Given the description of an element on the screen output the (x, y) to click on. 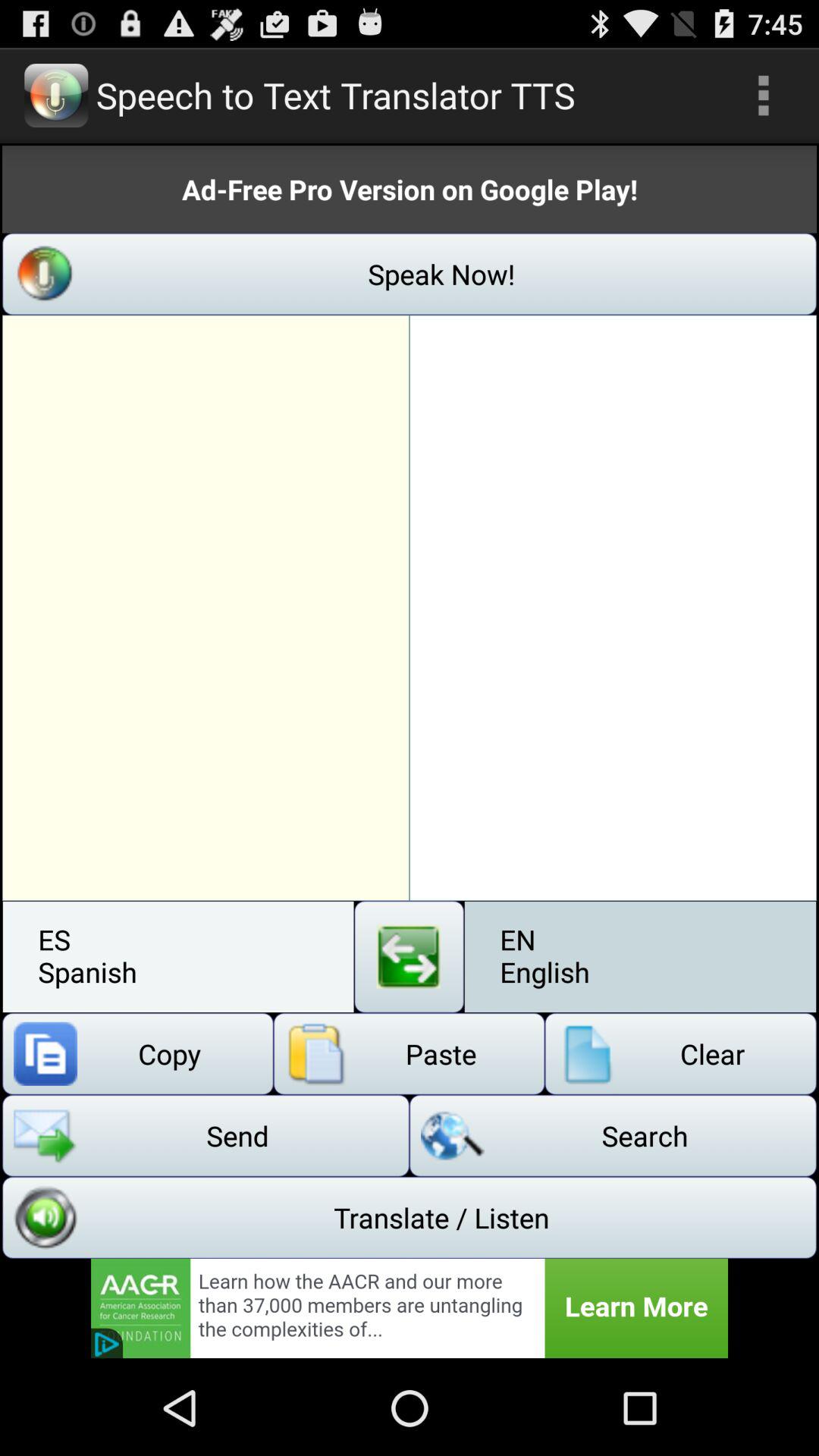
replace language (409, 956)
